Given the description of an element on the screen output the (x, y) to click on. 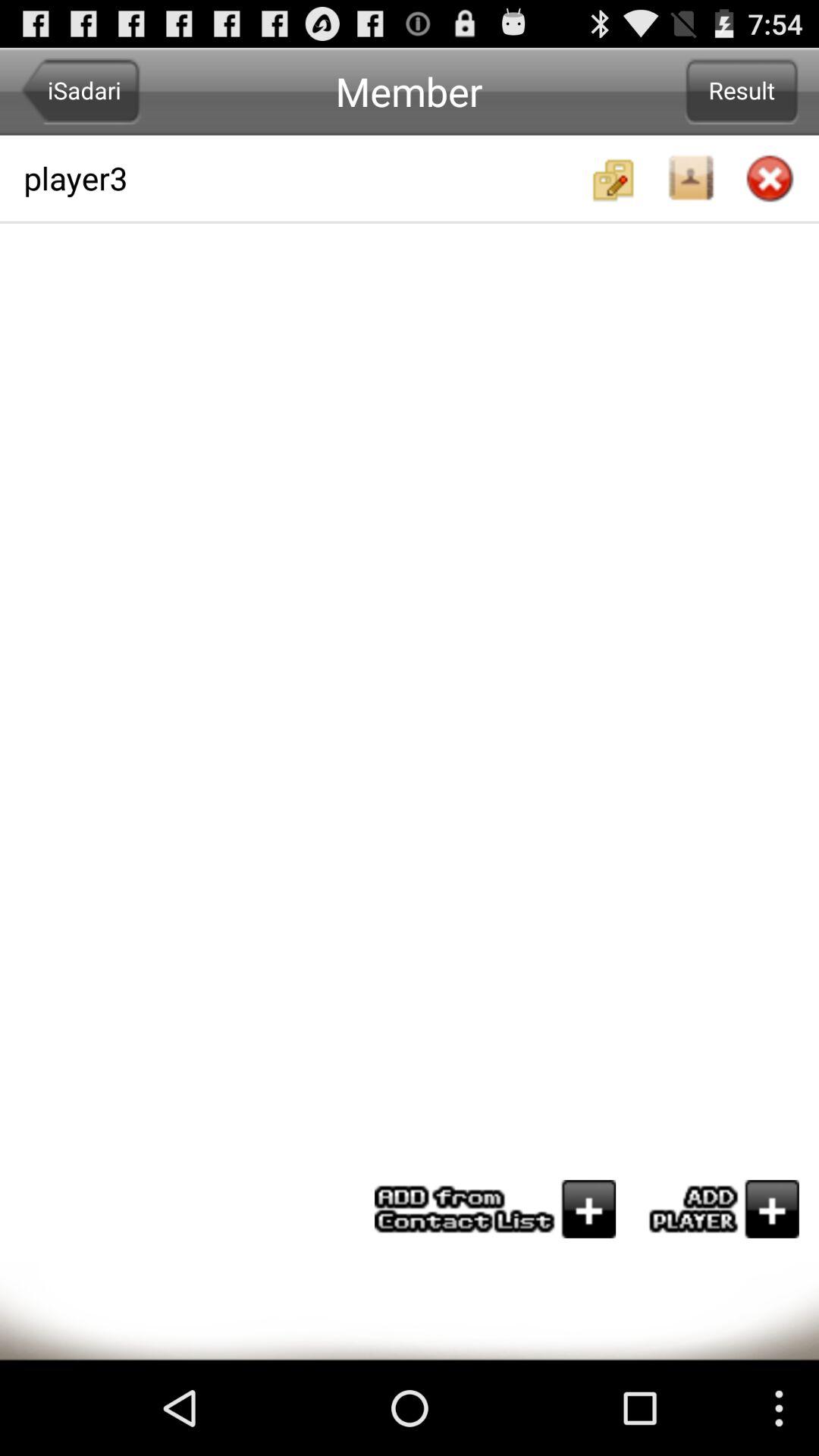
flip to isadari icon (80, 91)
